Given the description of an element on the screen output the (x, y) to click on. 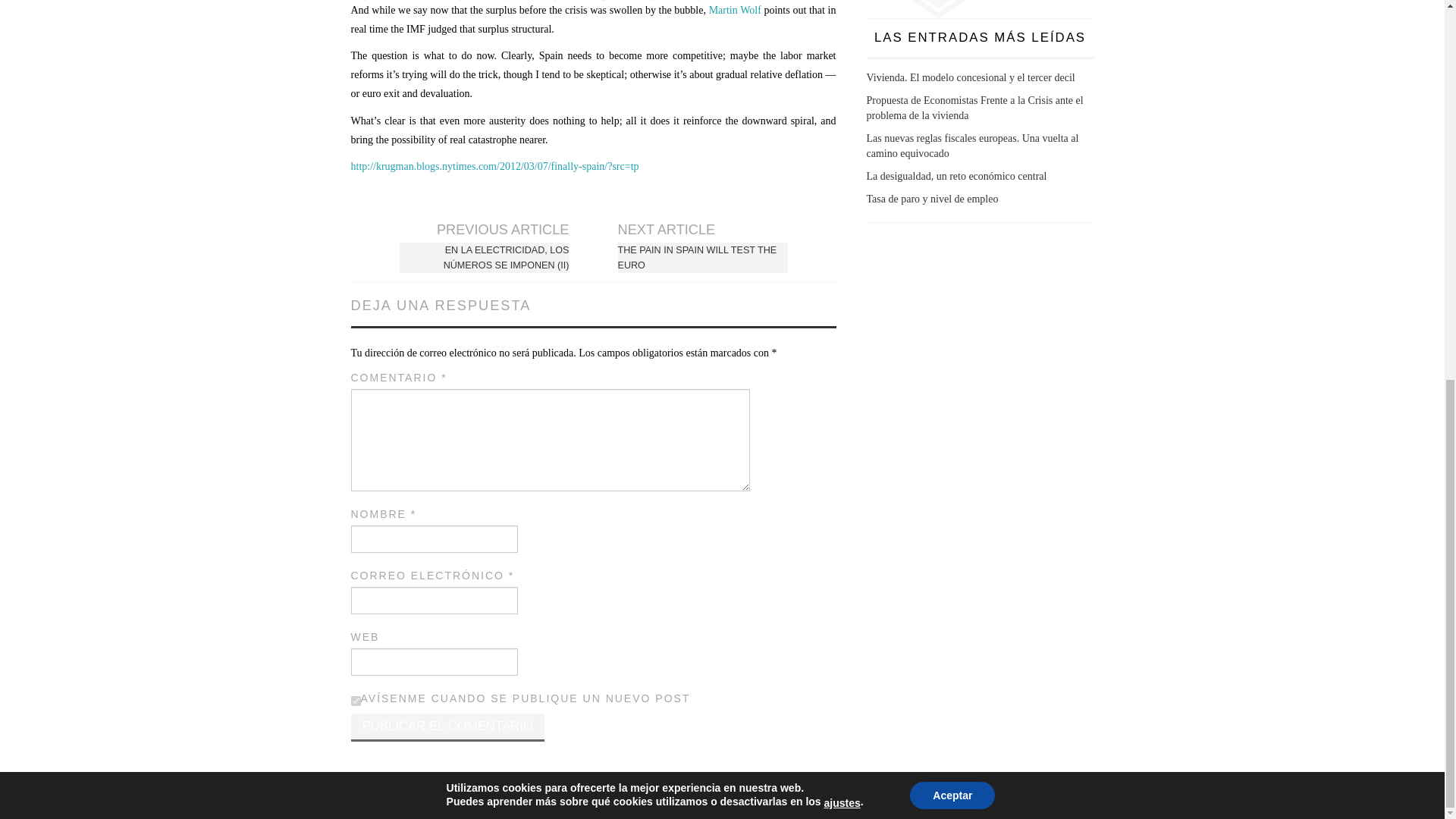
1 (354, 700)
Publicar el comentario (447, 727)
